Given the description of an element on the screen output the (x, y) to click on. 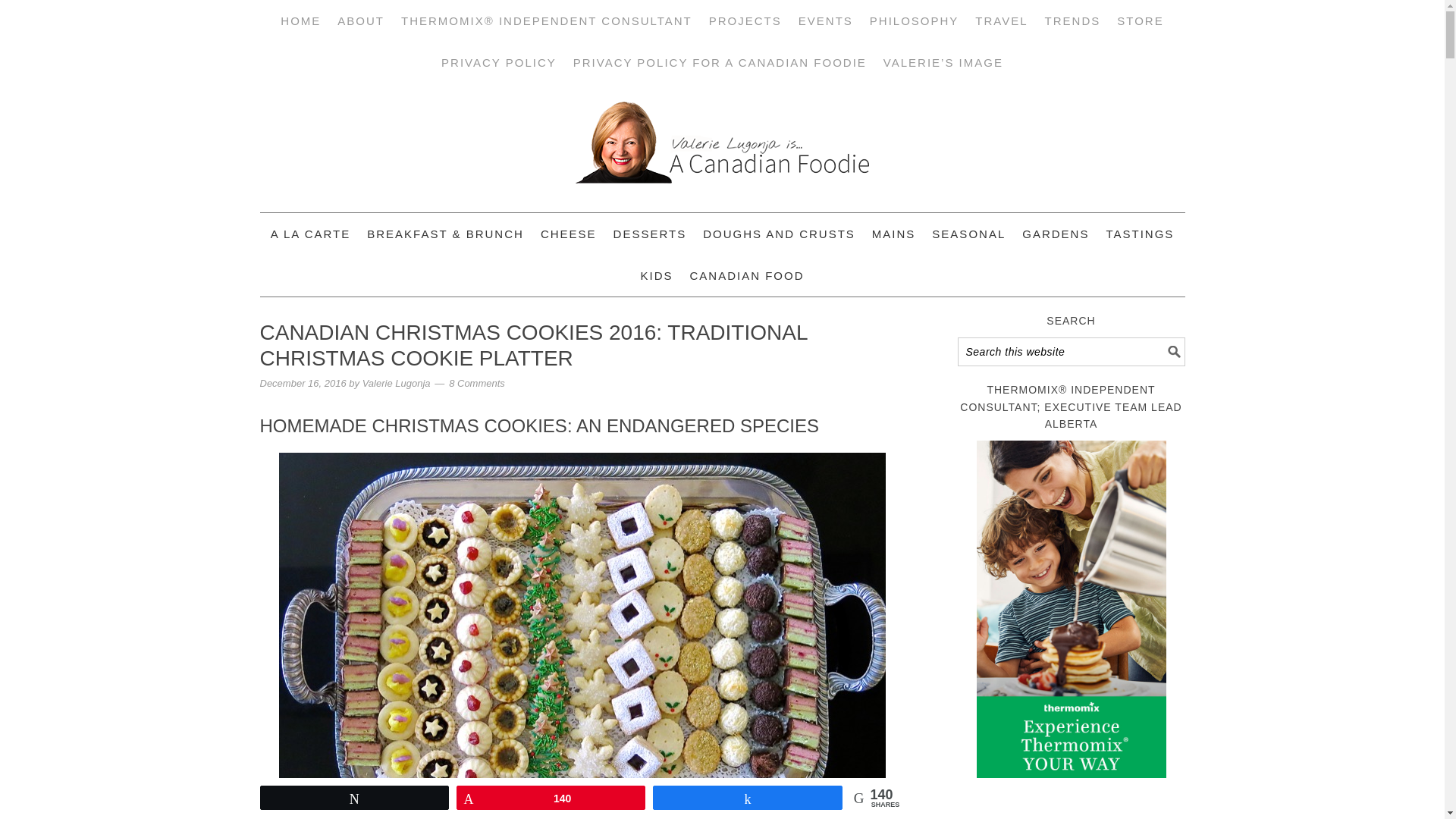
ABOUT (360, 20)
HOME (301, 20)
PROJECTS (745, 20)
EVENTS (825, 20)
